Given the description of an element on the screen output the (x, y) to click on. 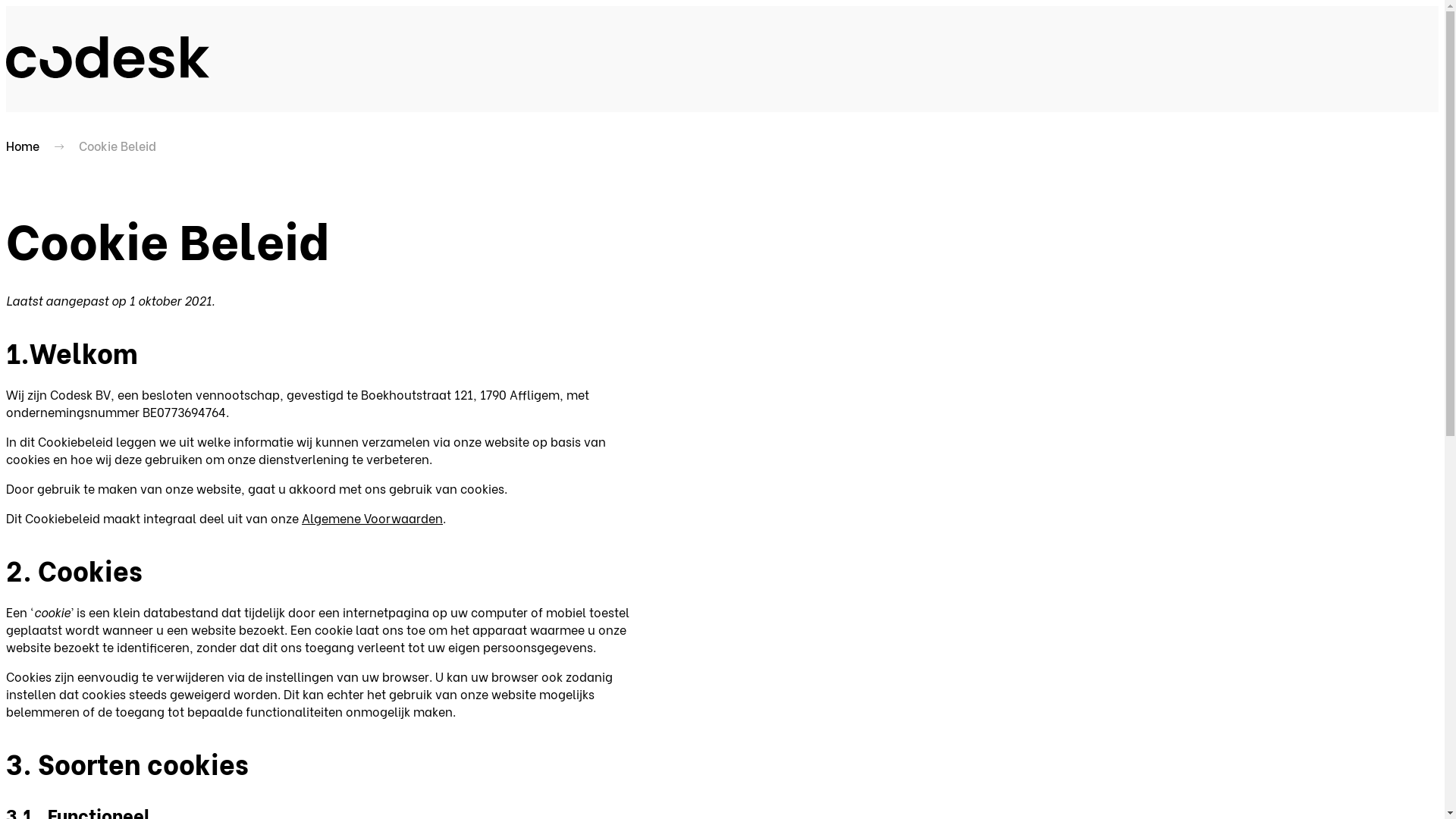
Algemene Voorwaarden Element type: text (371, 517)
Home Element type: text (22, 144)
